Given the description of an element on the screen output the (x, y) to click on. 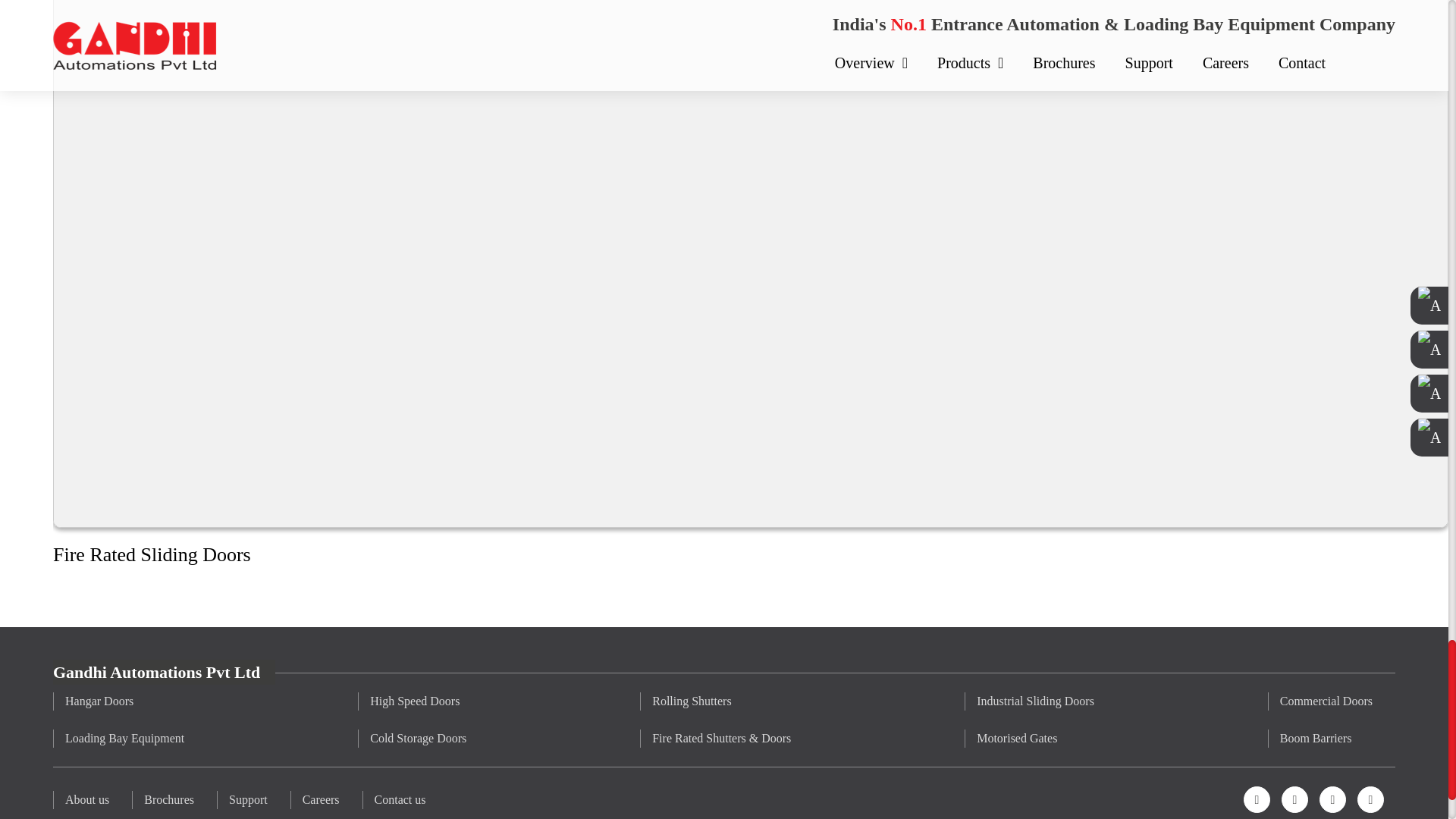
High Speed Doors (417, 701)
Loading Bay Equipment (123, 738)
Hangar Doors (123, 701)
Industrial Sliding Doors (1034, 701)
Cold Storage Doors (417, 738)
Motorised Gates (1034, 738)
Rolling Shutters (721, 701)
Boom Barriers (1326, 738)
Commercial Doors (1326, 701)
About us (86, 800)
